Given the description of an element on the screen output the (x, y) to click on. 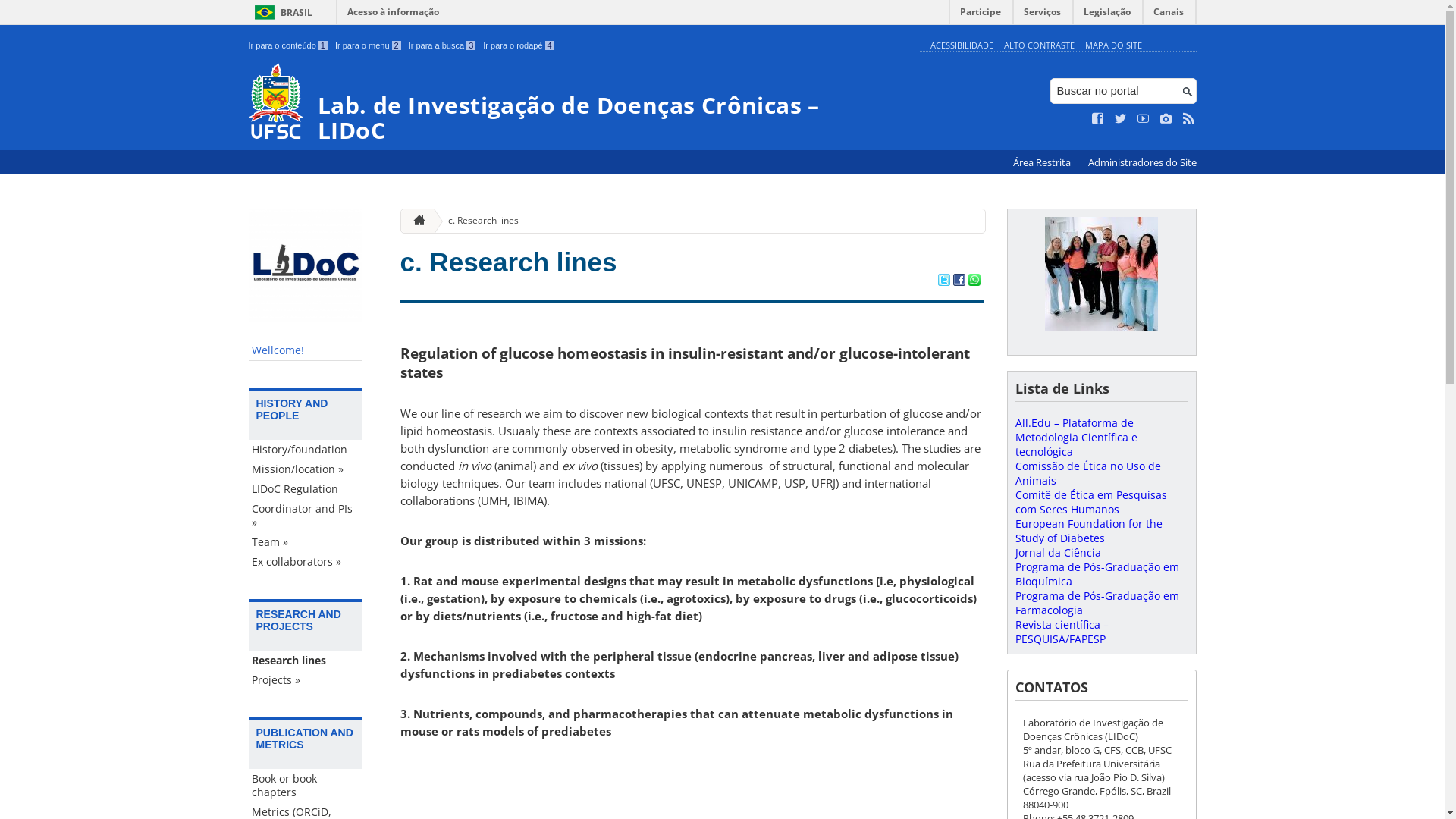
BRASIL Element type: text (280, 12)
History/foundation Element type: text (305, 449)
Compartilhar no Twitter Element type: hover (943, 280)
Participe Element type: text (980, 15)
Canais Element type: text (1169, 15)
Compartilhar no WhatsApp Element type: hover (973, 280)
Research lines Element type: text (305, 660)
Veja no Instagram Element type: hover (1166, 118)
Wellcome! Element type: text (305, 350)
ACESSIBILIDADE Element type: text (960, 44)
Ir para o menu 2 Element type: text (368, 45)
c. Research lines Element type: text (508, 261)
Curta no Facebook Element type: hover (1098, 118)
Ir para a busca 3 Element type: text (442, 45)
Book or book chapters Element type: text (305, 785)
ALTO CONTRASTE Element type: text (1039, 44)
MAPA DO SITE Element type: text (1112, 44)
c. Research lines Element type: text (476, 220)
LIDoC Regulation Element type: text (305, 488)
Administradores do Site Element type: text (1141, 162)
Compartilhar no Facebook Element type: hover (958, 280)
Siga no Twitter Element type: hover (1120, 118)
European Foundation for the Study of Diabetes Element type: text (1087, 530)
